Given the description of an element on the screen output the (x, y) to click on. 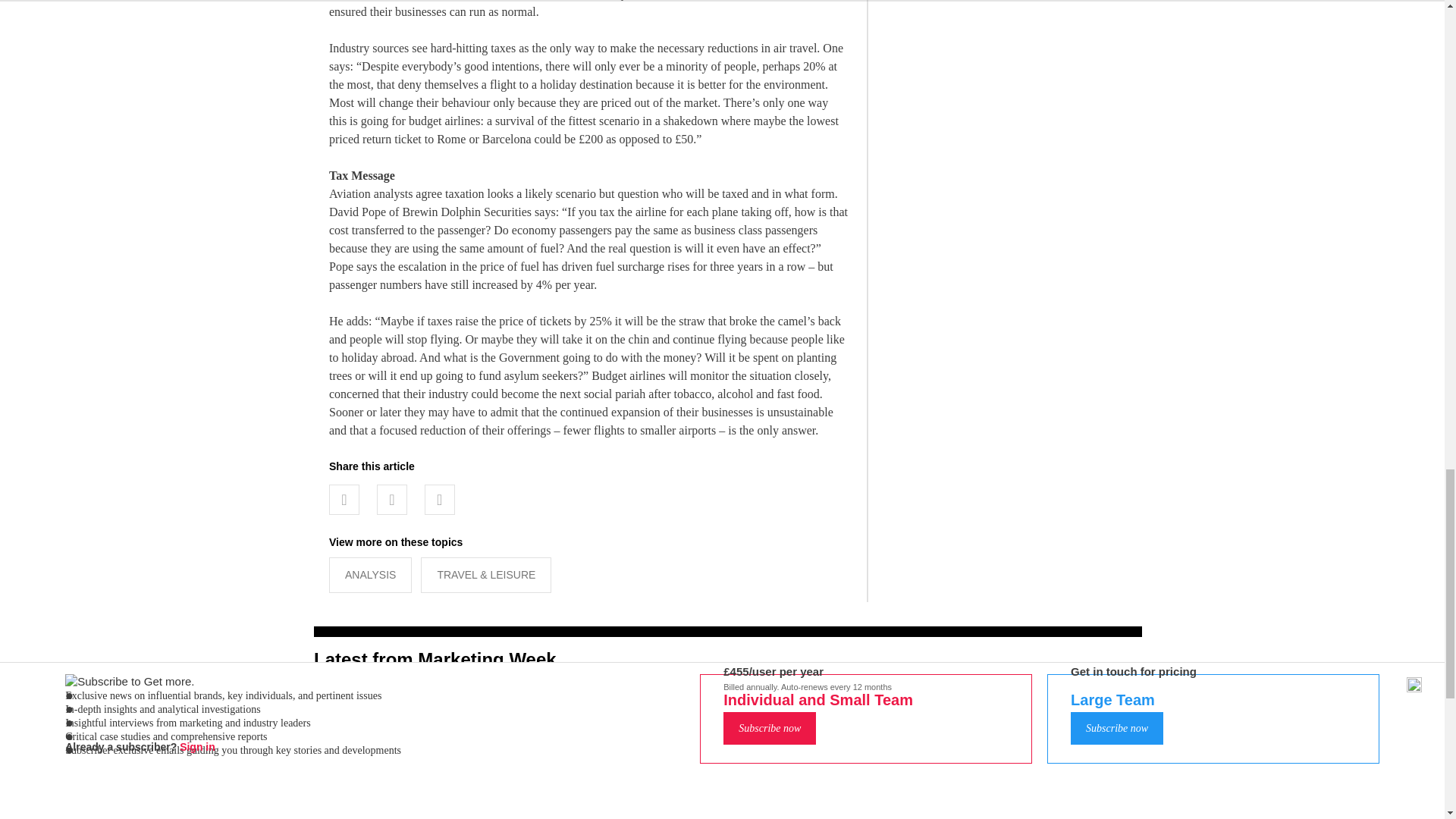
Latest from Marketing Week (435, 659)
ANALYSIS (370, 574)
